Given the description of an element on the screen output the (x, y) to click on. 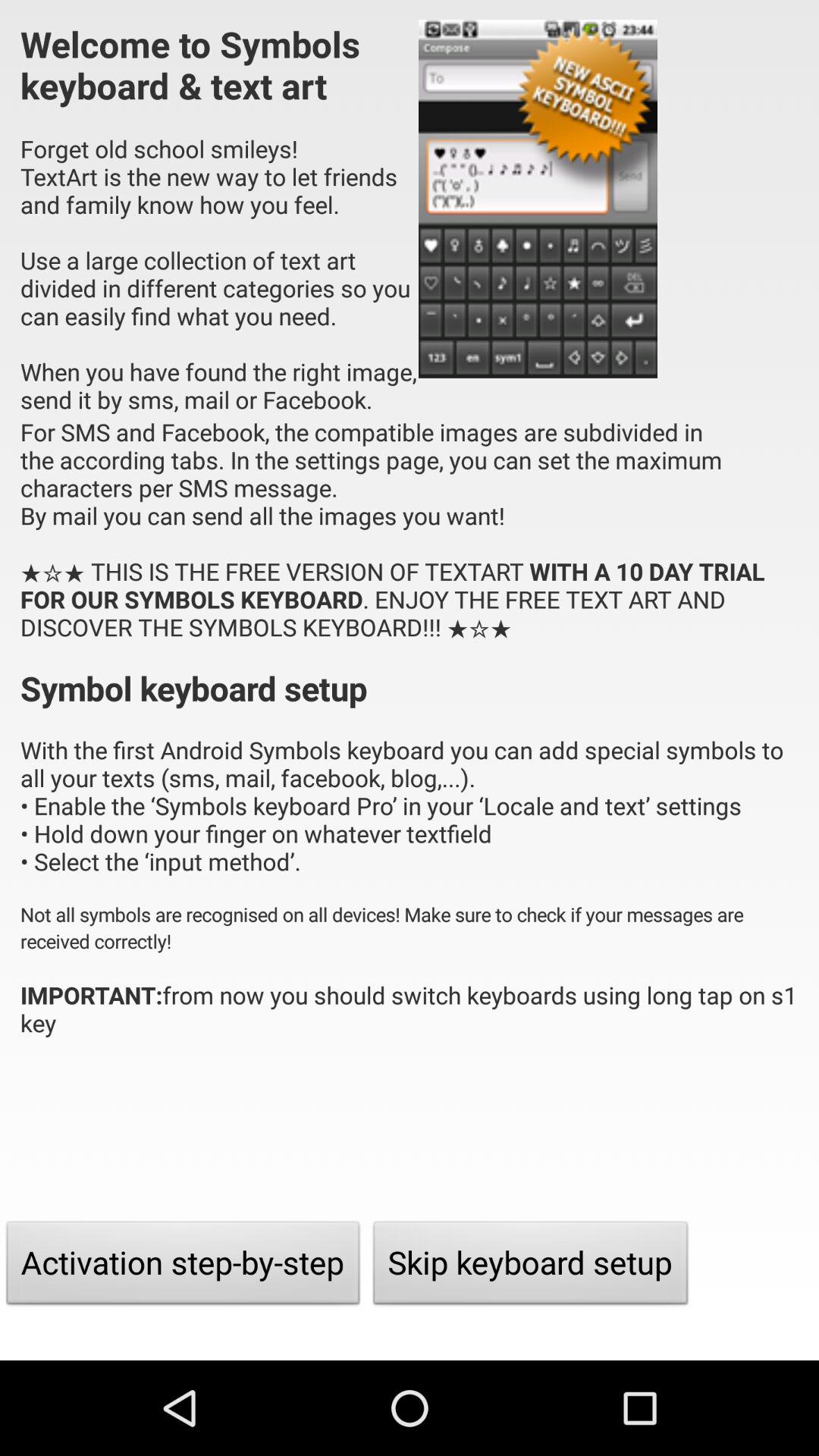
launch app below for sms and icon (183, 1266)
